Given the description of an element on the screen output the (x, y) to click on. 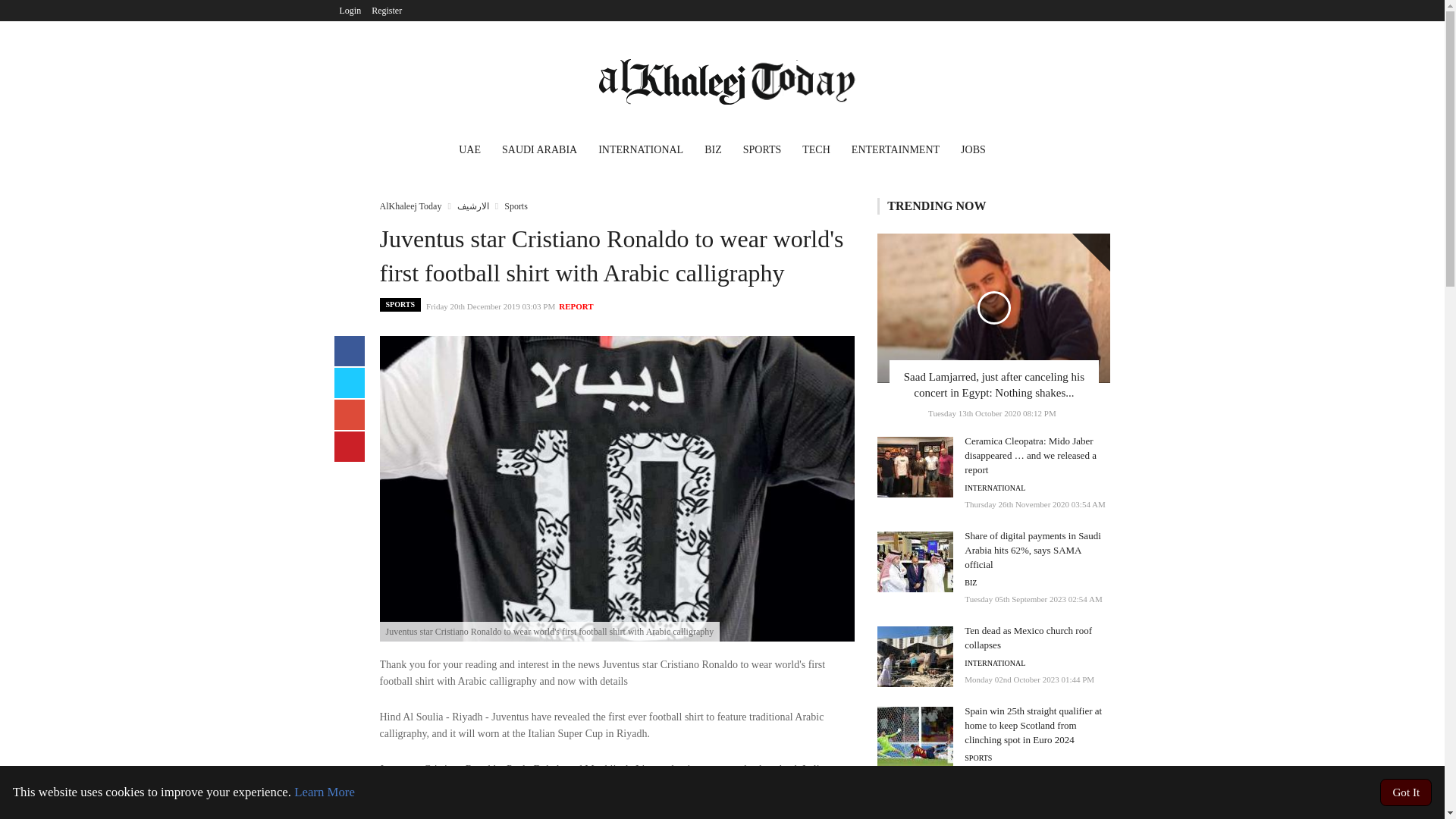
Learn More (324, 791)
INTERNATIONAL (994, 488)
AlKhaleej Today (409, 205)
INTERNATIONAL (641, 151)
Sports (515, 205)
BIZ (969, 583)
REPORT (575, 306)
SAUDI ARABIA (540, 151)
Register (386, 10)
